Given the description of an element on the screen output the (x, y) to click on. 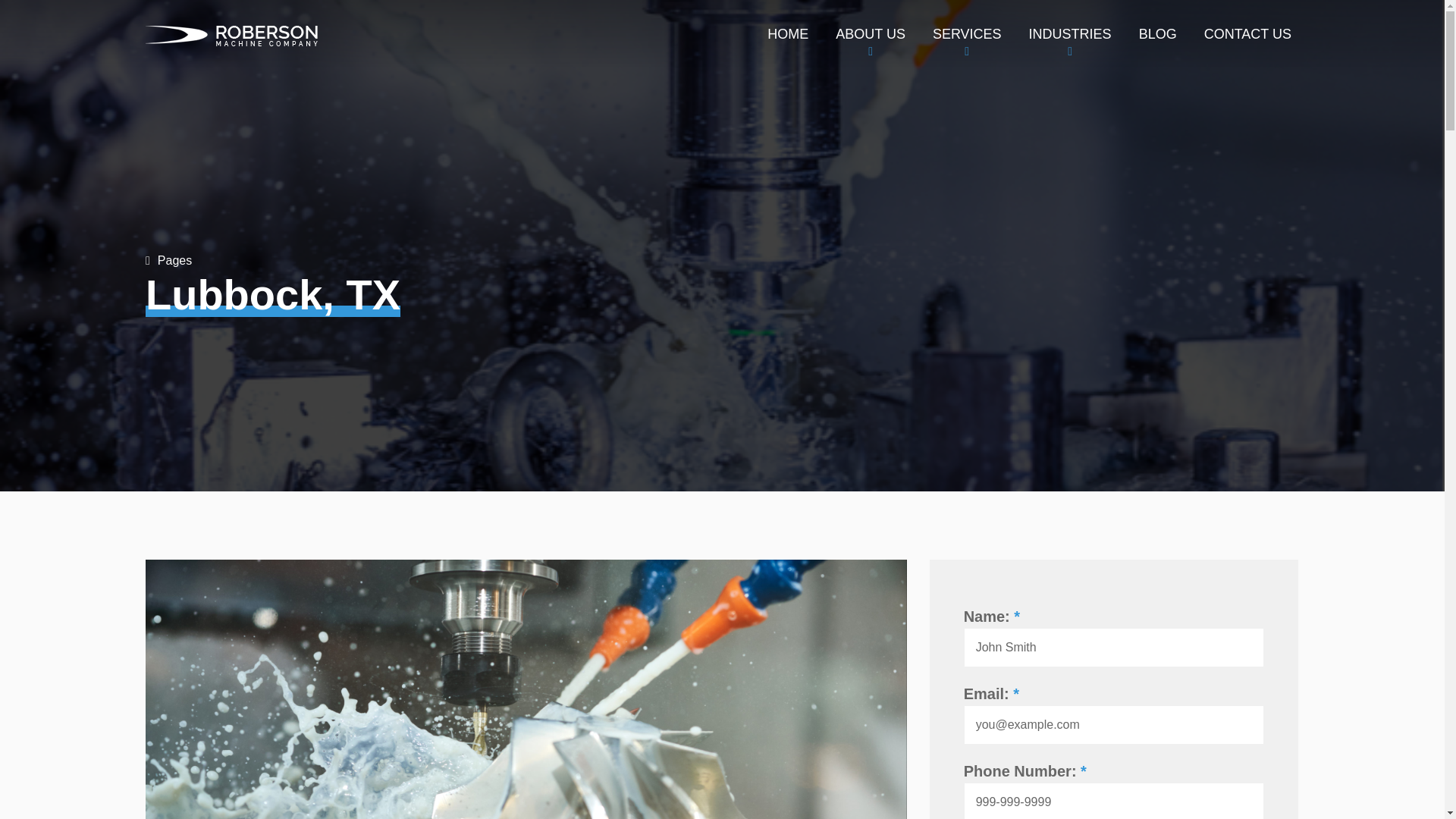
Home (787, 33)
INDUSTRIES (1070, 33)
ABOUT US (870, 33)
Blog (1158, 33)
View All Pages (168, 259)
Services (966, 33)
HOME (787, 33)
Industries (1070, 33)
SERVICES (966, 33)
